Given the description of an element on the screen output the (x, y) to click on. 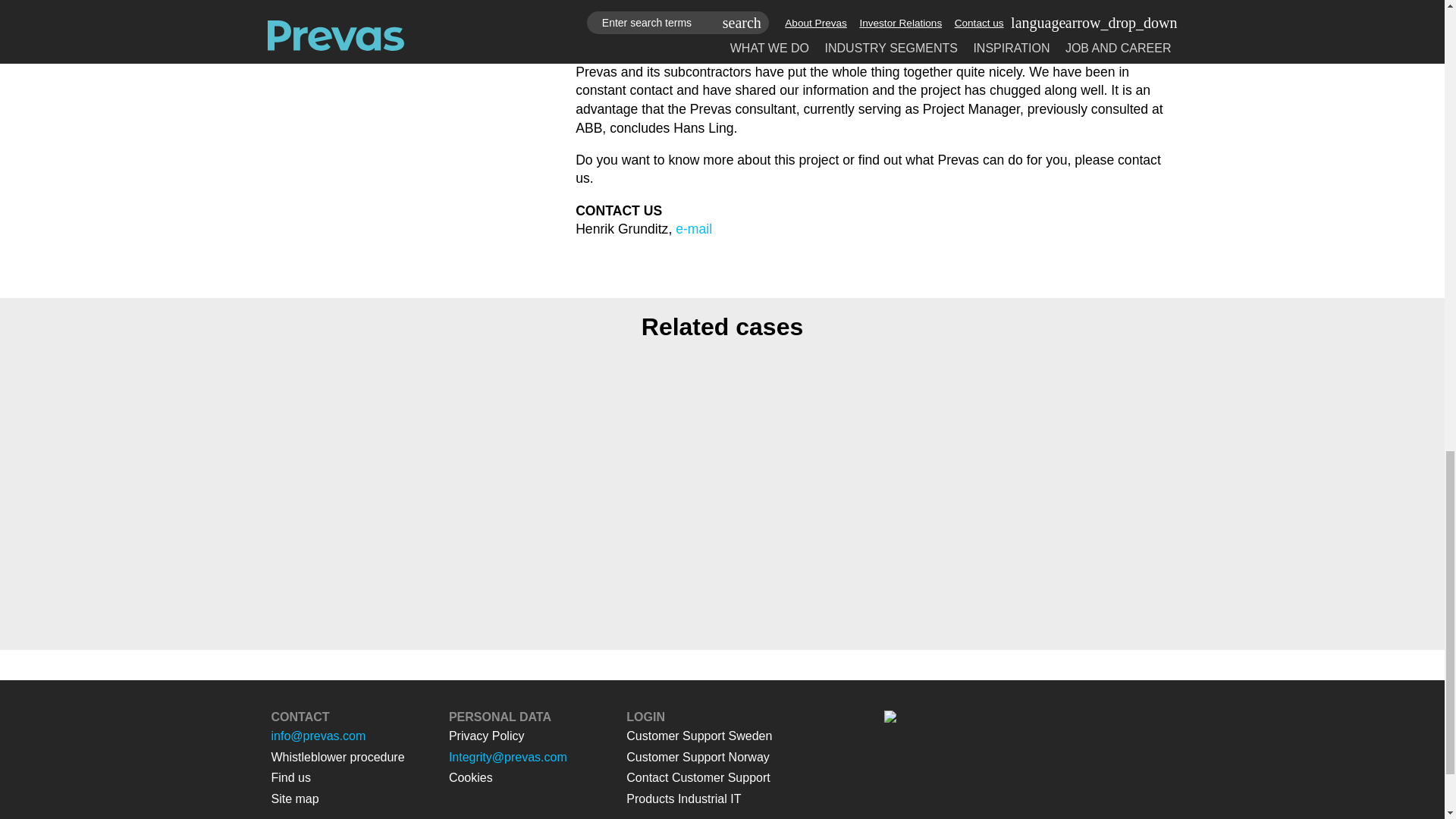
Cookies (470, 777)
Customer Support Norway (698, 757)
Site map (294, 798)
Products Industrial IT (683, 798)
e-mail (693, 228)
Whistleblower procedure (337, 757)
Contact Customer Support (698, 777)
Customer Support Sweden (698, 735)
Privacy Policy (486, 735)
Find us (290, 777)
